Given the description of an element on the screen output the (x, y) to click on. 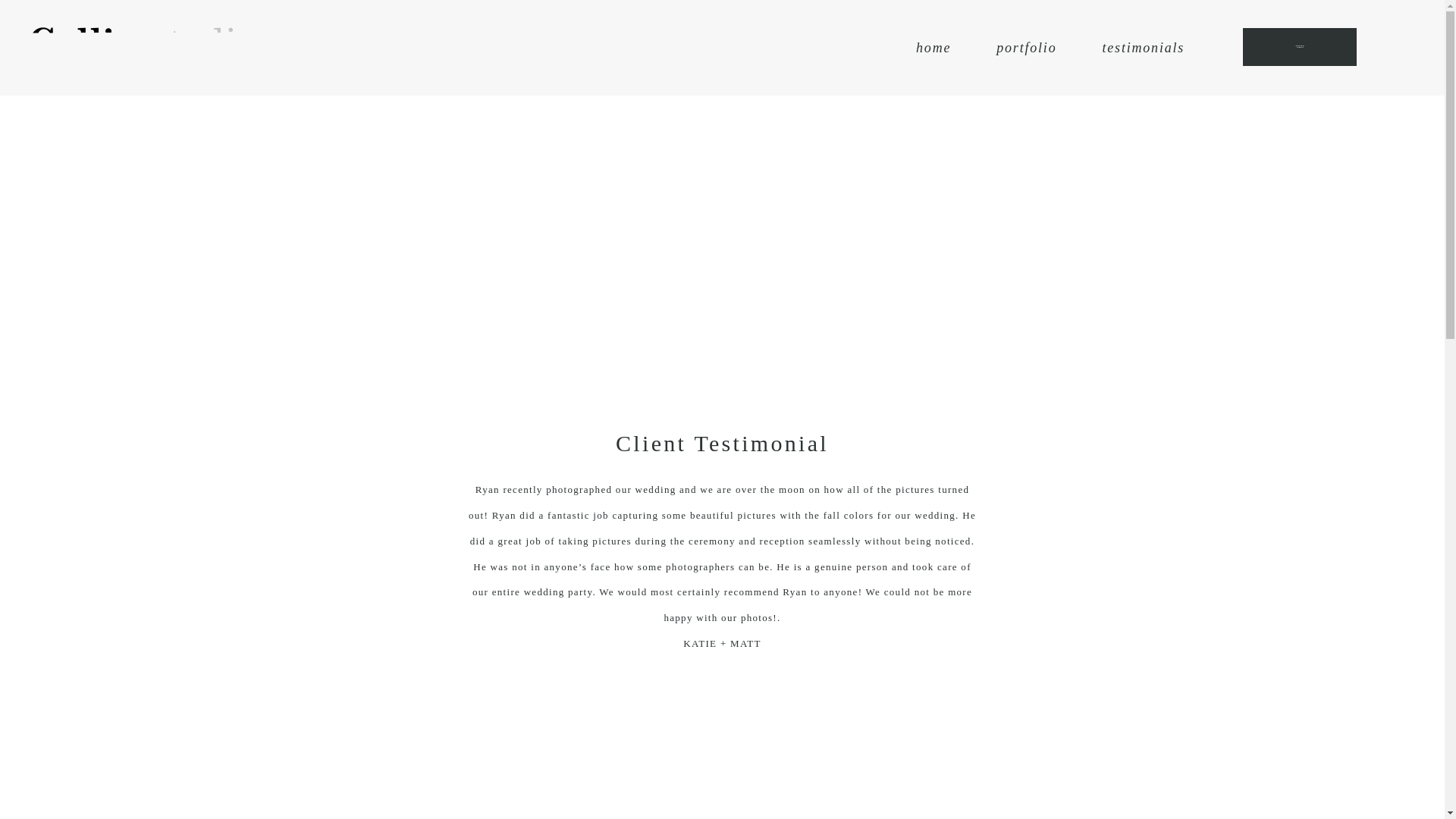
portfolio (1026, 47)
home (932, 47)
testimonials (1143, 47)
